Given the description of an element on the screen output the (x, y) to click on. 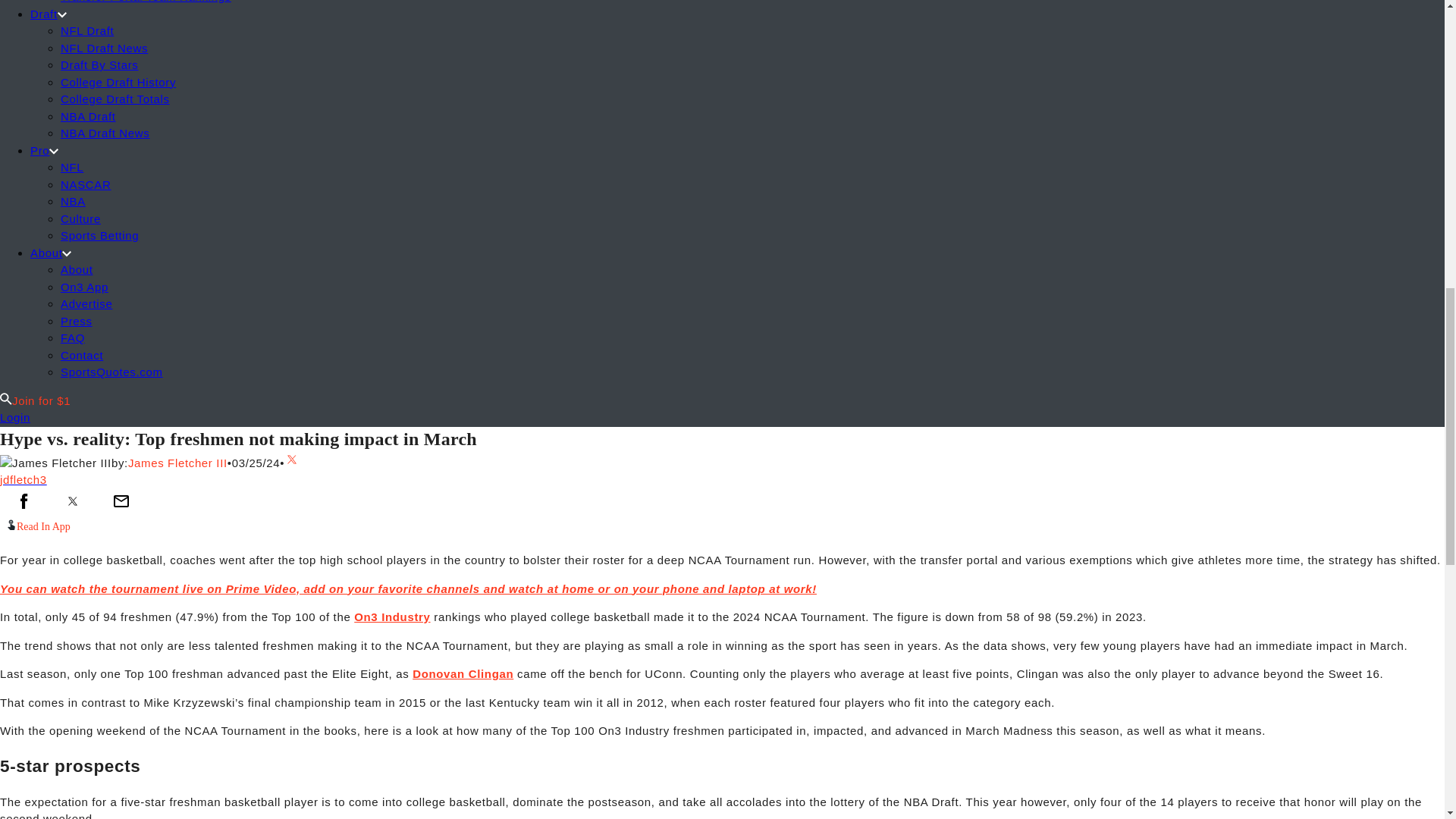
On3 Database Hub (5, 400)
